Given the description of an element on the screen output the (x, y) to click on. 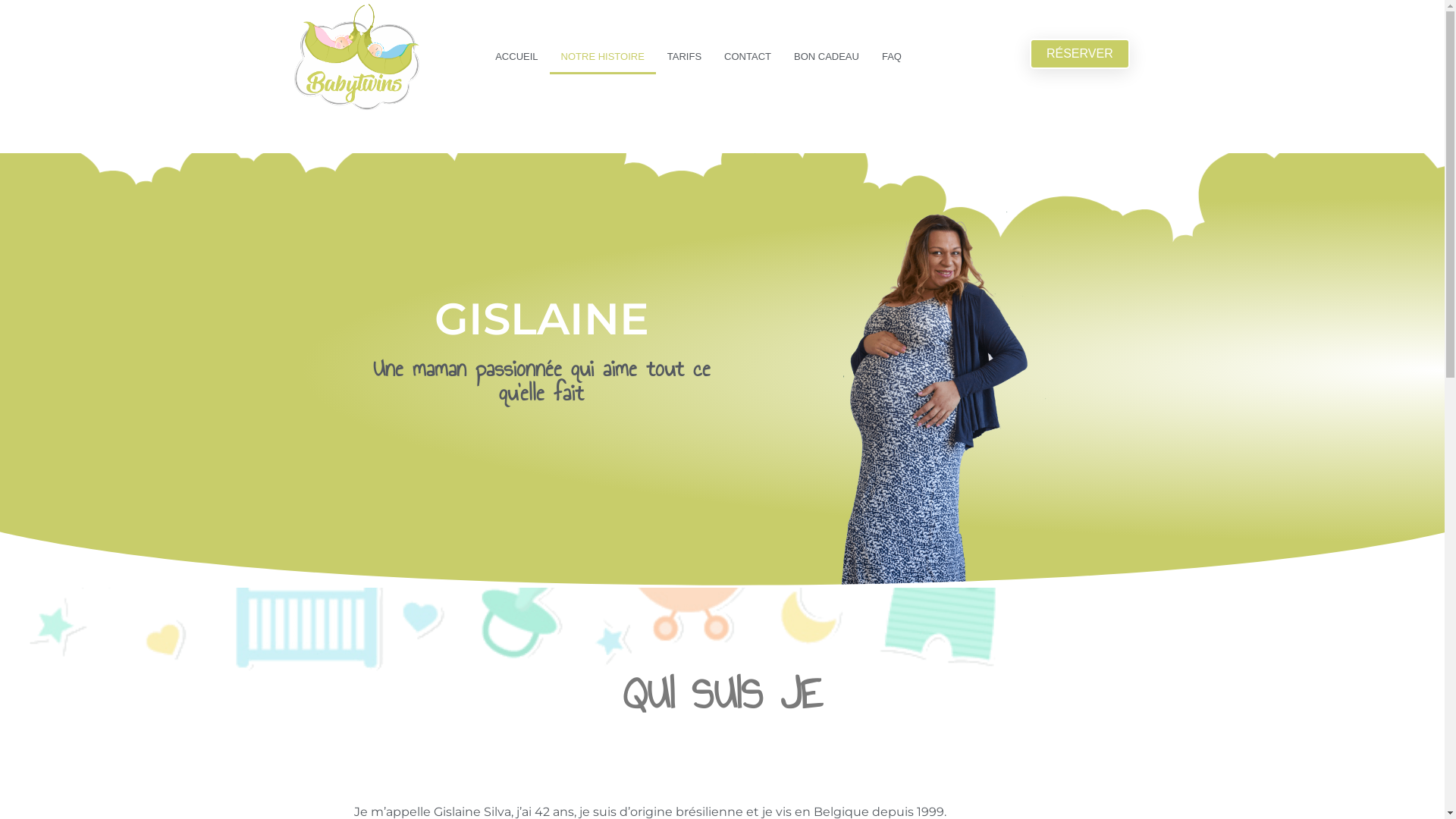
CONTACT Element type: text (747, 56)
ACCUEIL Element type: text (516, 56)
TARIFS Element type: text (683, 56)
NOTRE HISTOIRE Element type: text (602, 56)
FAQ Element type: text (891, 56)
BON CADEAU Element type: text (826, 56)
